Given the description of an element on the screen output the (x, y) to click on. 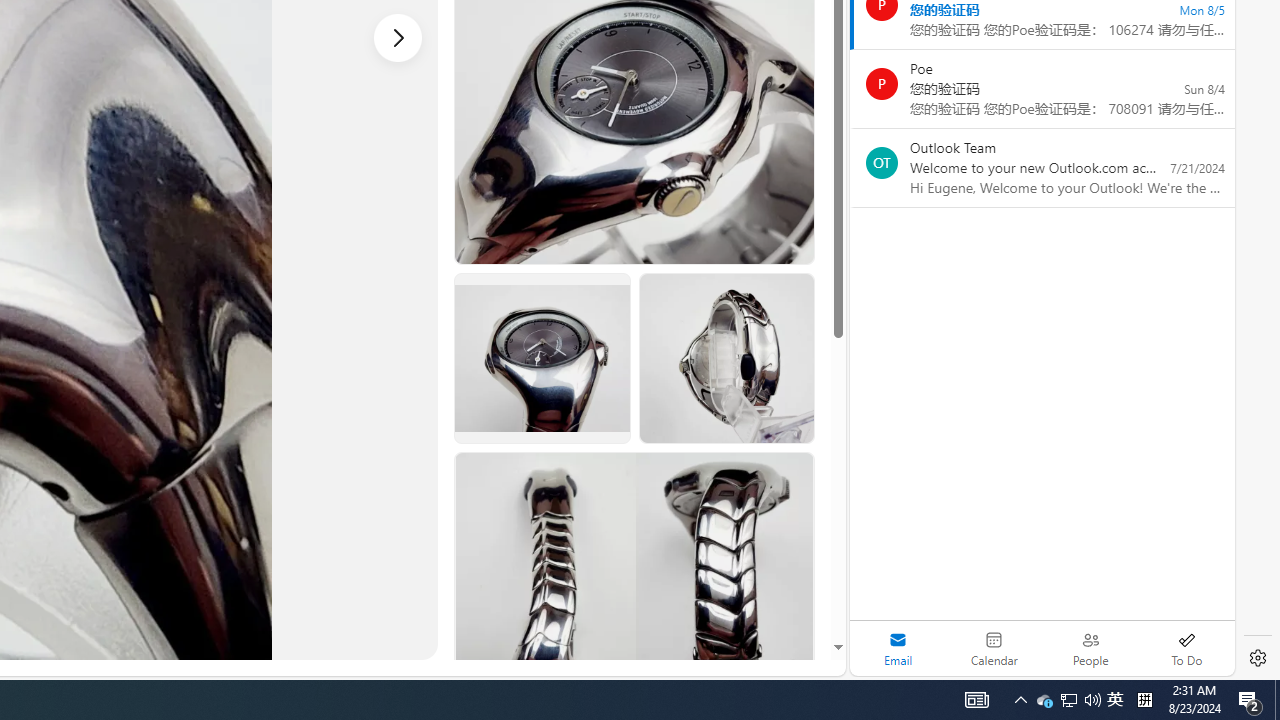
To Do (1186, 648)
Selected mail module (898, 648)
Next image - Item images thumbnails (397, 37)
People (1090, 648)
Calendar. Date today is 22 (994, 648)
Settings (1258, 658)
